Given the description of an element on the screen output the (x, y) to click on. 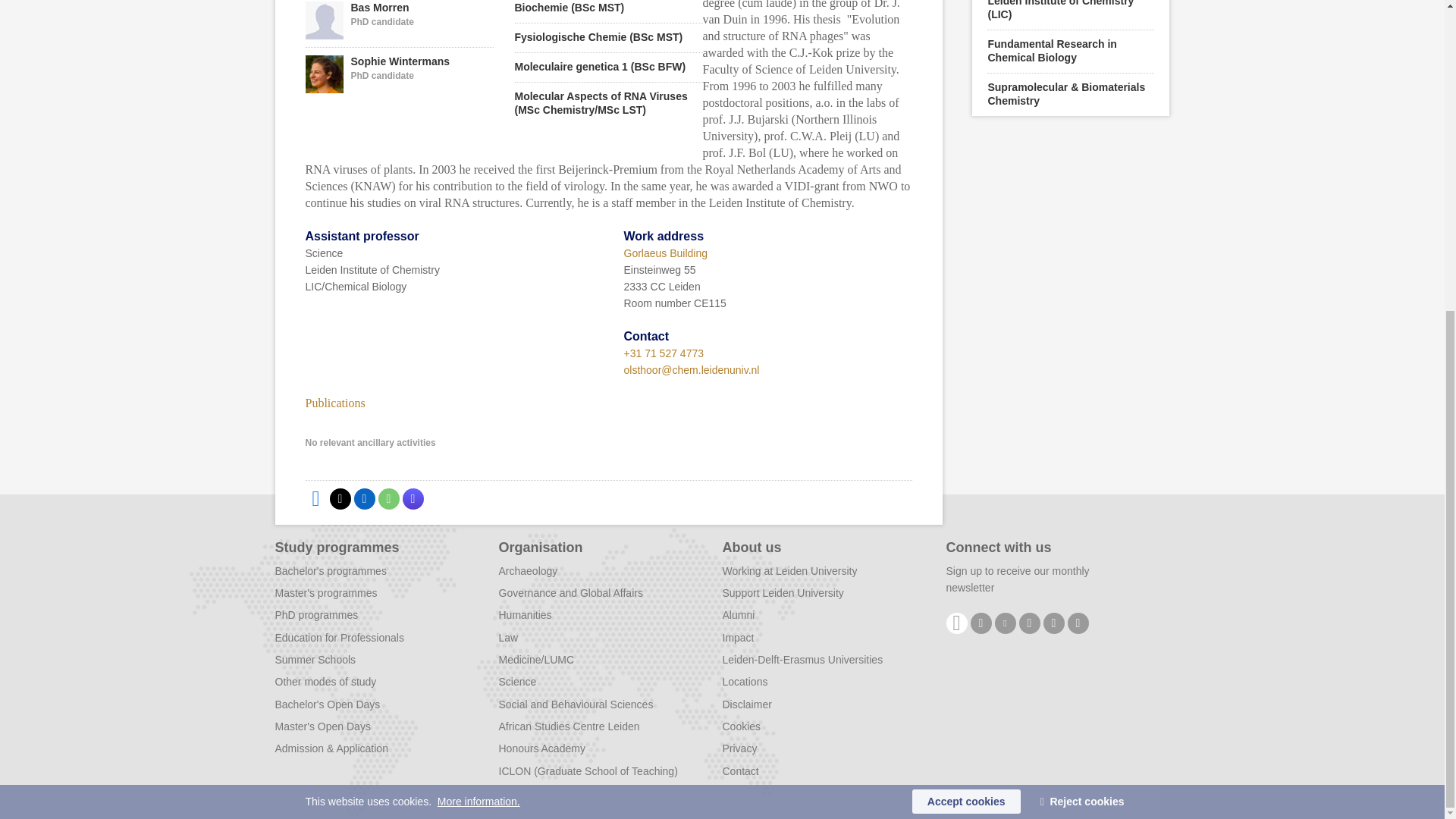
Share by WhatsApp (398, 73)
Share on X (387, 498)
Share on Facebook (339, 498)
Share on LinkedIn (398, 23)
Share by Mastodon (315, 498)
